Given the description of an element on the screen output the (x, y) to click on. 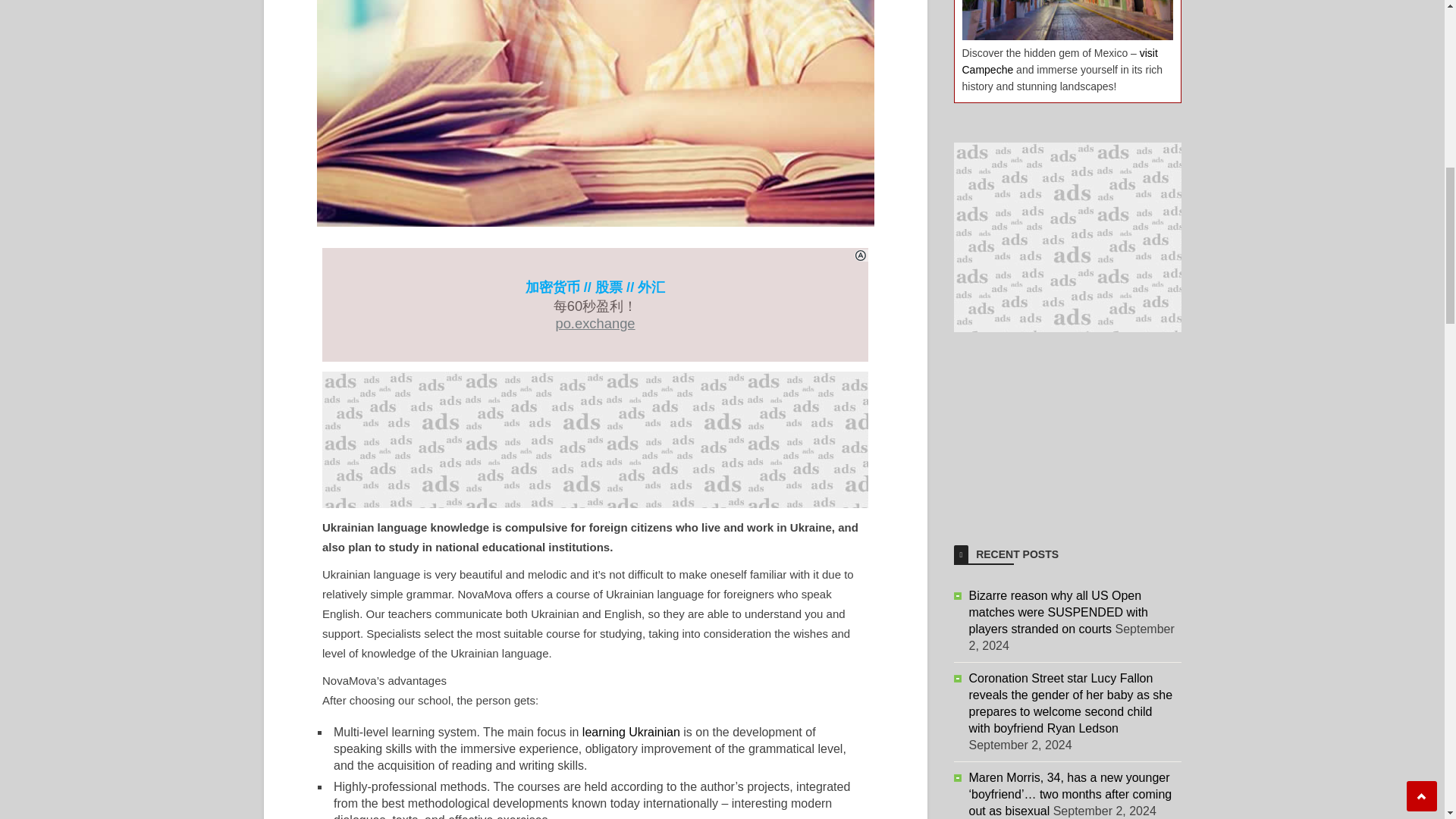
visit Campeche (1058, 61)
Advertisement (1066, 426)
Advertisement (594, 439)
learning Ukrainian (630, 731)
